Given the description of an element on the screen output the (x, y) to click on. 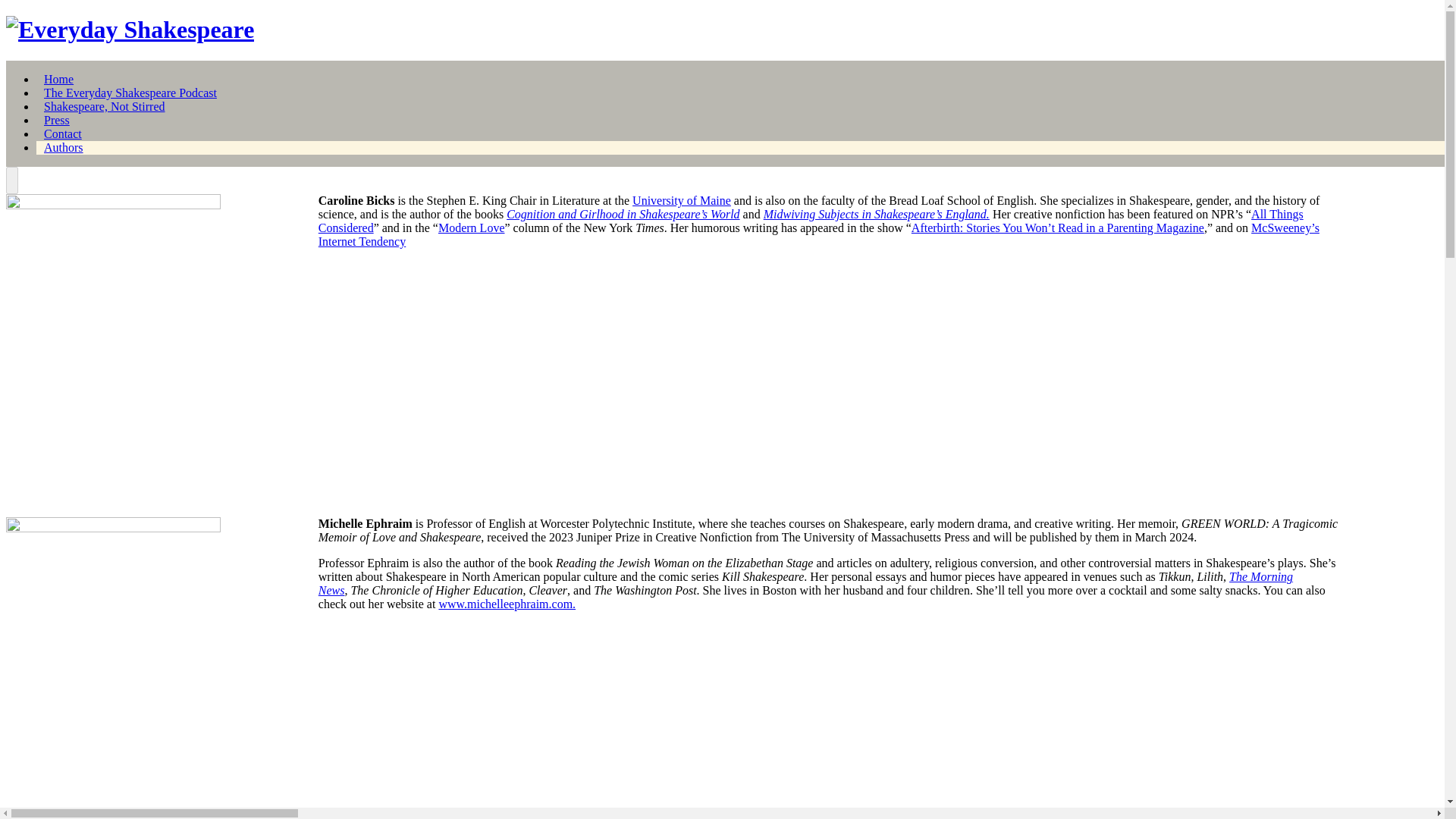
www.michelleephraim.com. (506, 603)
Home (58, 78)
The Everyday Shakespeare Podcast (129, 92)
Contact (62, 133)
Authors (62, 146)
Shakespeare, Not Stirred (104, 106)
University of Maine (680, 200)
Press (56, 119)
Modern Love (471, 227)
All Things Considered (810, 221)
The Morning News (805, 583)
